Given the description of an element on the screen output the (x, y) to click on. 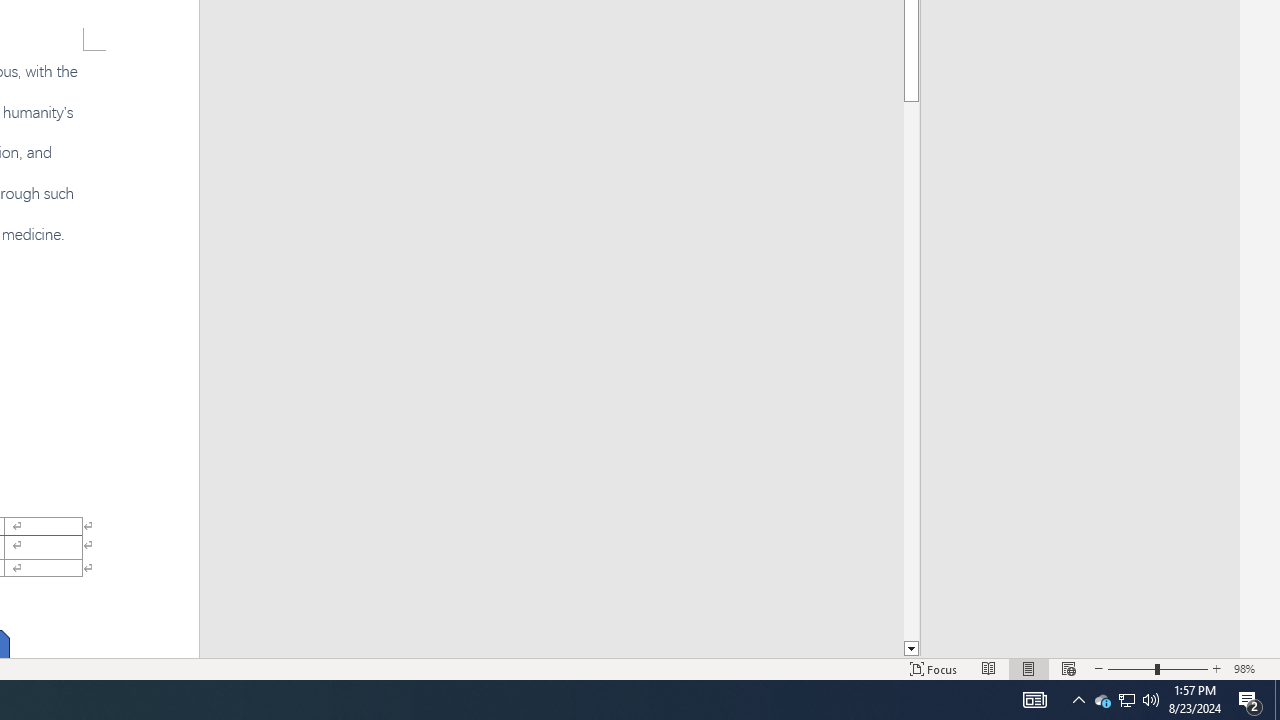
Page down (911, 371)
Line down (911, 649)
Zoom (1158, 668)
